Given the description of an element on the screen output the (x, y) to click on. 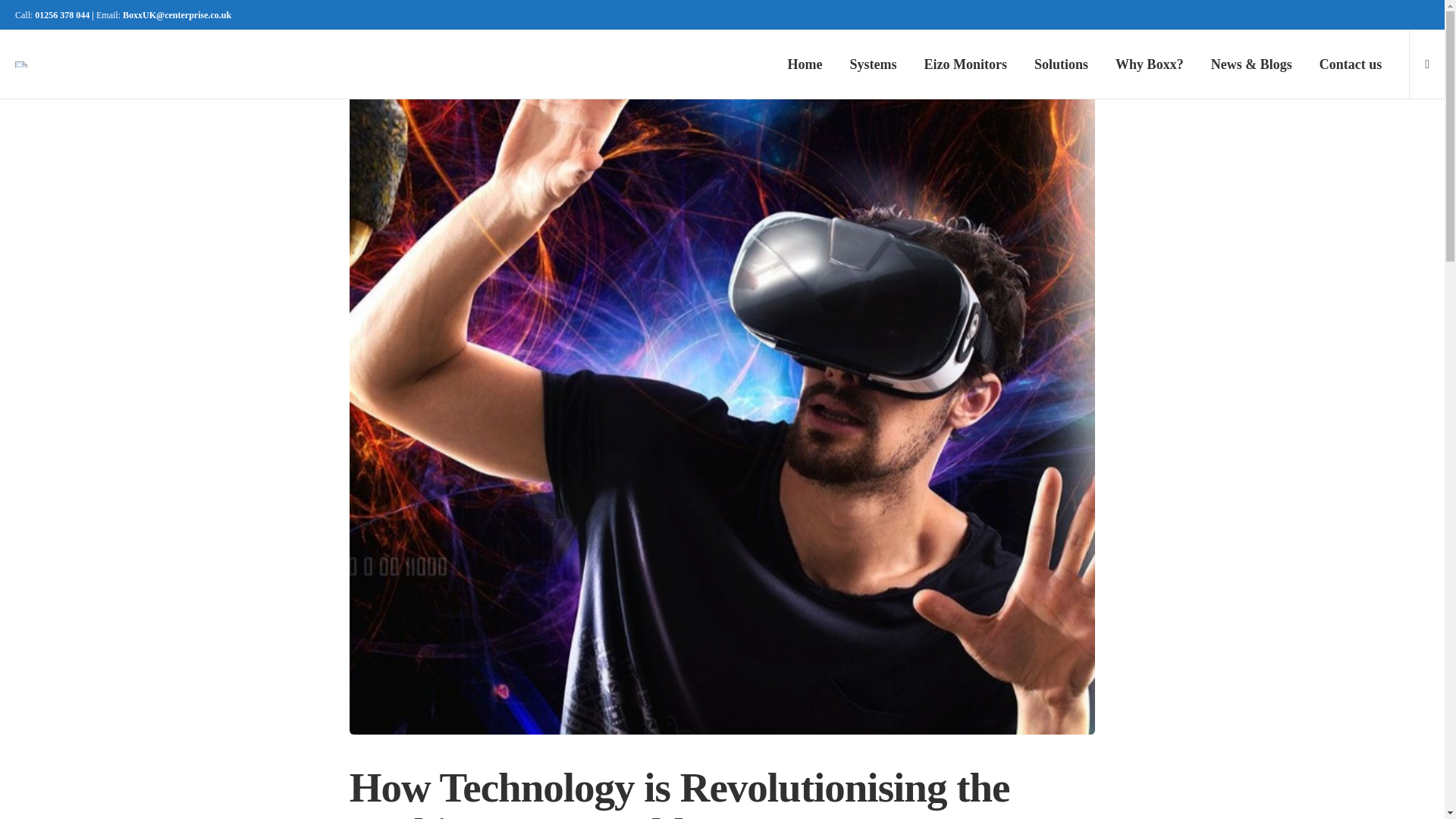
Contact us (1350, 64)
01256 378 044 (61, 14)
Why Boxx? (1149, 64)
PREV (535, 26)
Eizo Monitors (965, 64)
Site logo (20, 64)
Site logo (20, 64)
Search (1072, 413)
NEXT (908, 26)
